Given the description of an element on the screen output the (x, y) to click on. 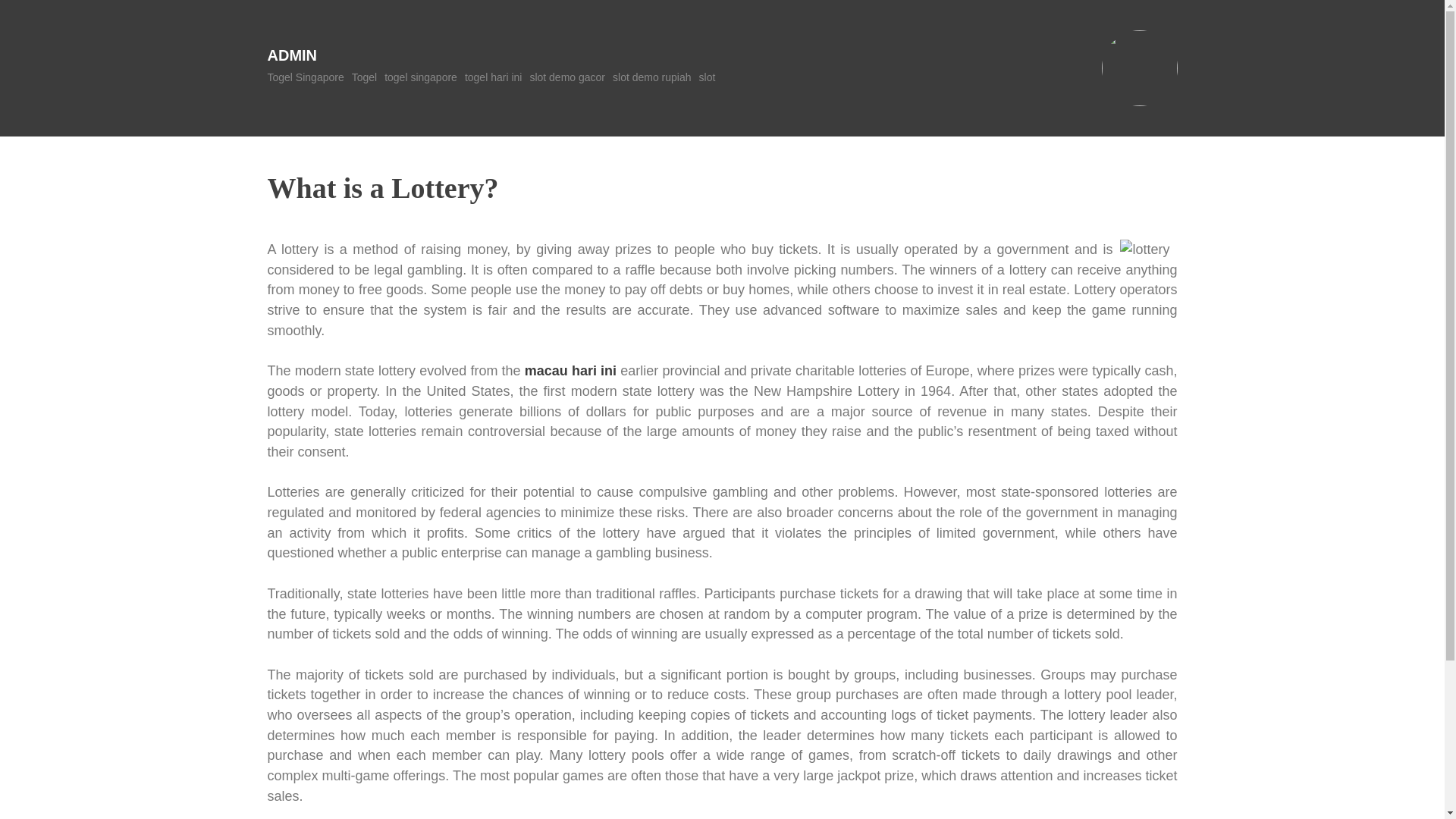
What is a Lottery? (381, 187)
macau hari ini (569, 370)
slot demo gacor (567, 77)
slot demo rupiah (651, 77)
togel hari ini (493, 77)
ADMIN (291, 54)
admin (291, 54)
What is a Lottery? (381, 187)
Togel Singapore (304, 77)
Togel (364, 77)
slot (707, 77)
togel singapore (420, 77)
